Given the description of an element on the screen output the (x, y) to click on. 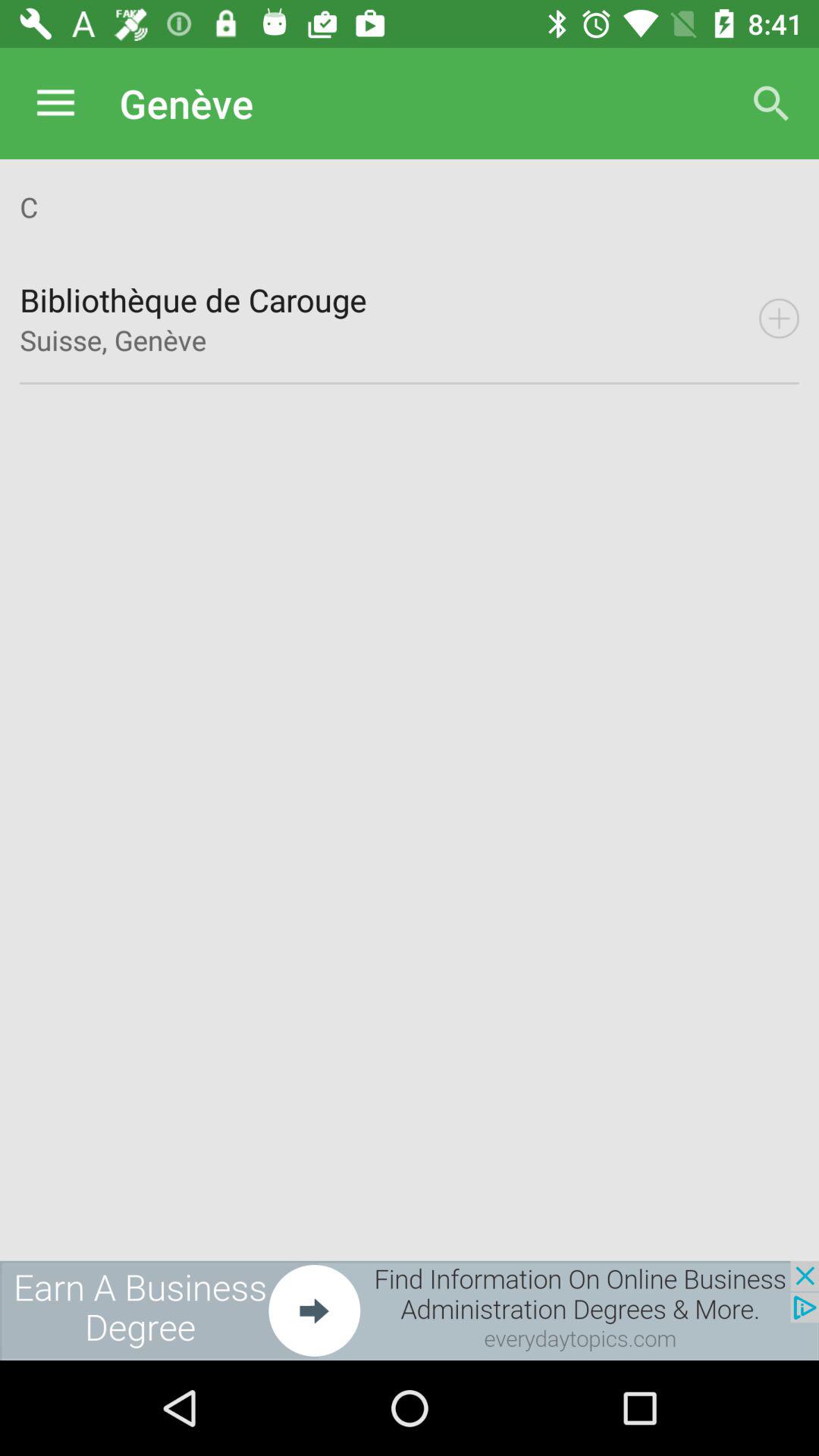
go to advertising site (409, 1310)
